Given the description of an element on the screen output the (x, y) to click on. 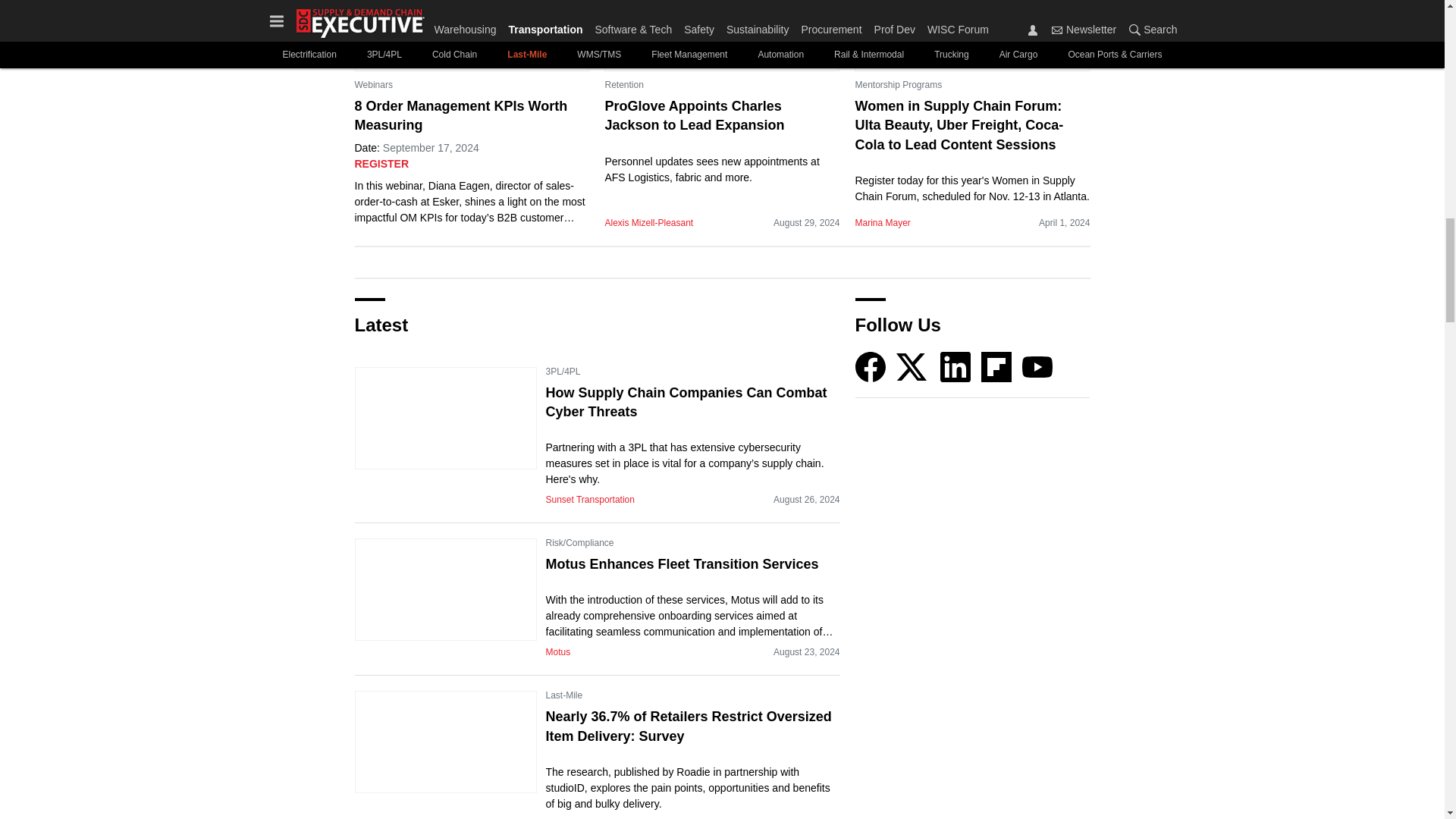
LinkedIn icon (955, 367)
Facebook icon (870, 367)
Webinars (374, 84)
YouTube icon (1037, 367)
Flipboard icon (996, 367)
Twitter X icon (911, 367)
